Given the description of an element on the screen output the (x, y) to click on. 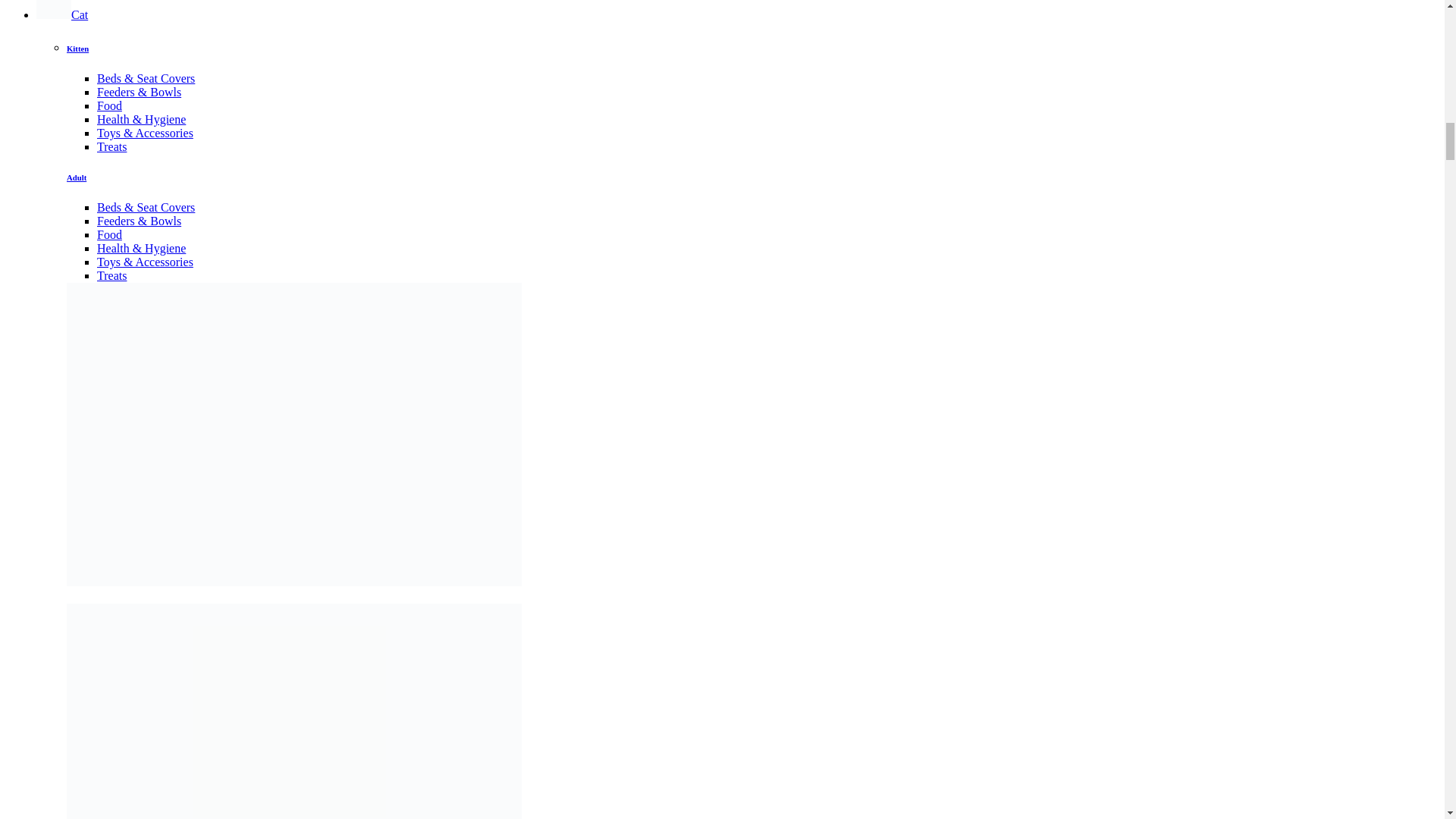
Adult (75, 176)
Food (109, 234)
Kitten (77, 48)
Treats (111, 275)
Cat (61, 14)
Treats (111, 146)
Food (109, 105)
